Given the description of an element on the screen output the (x, y) to click on. 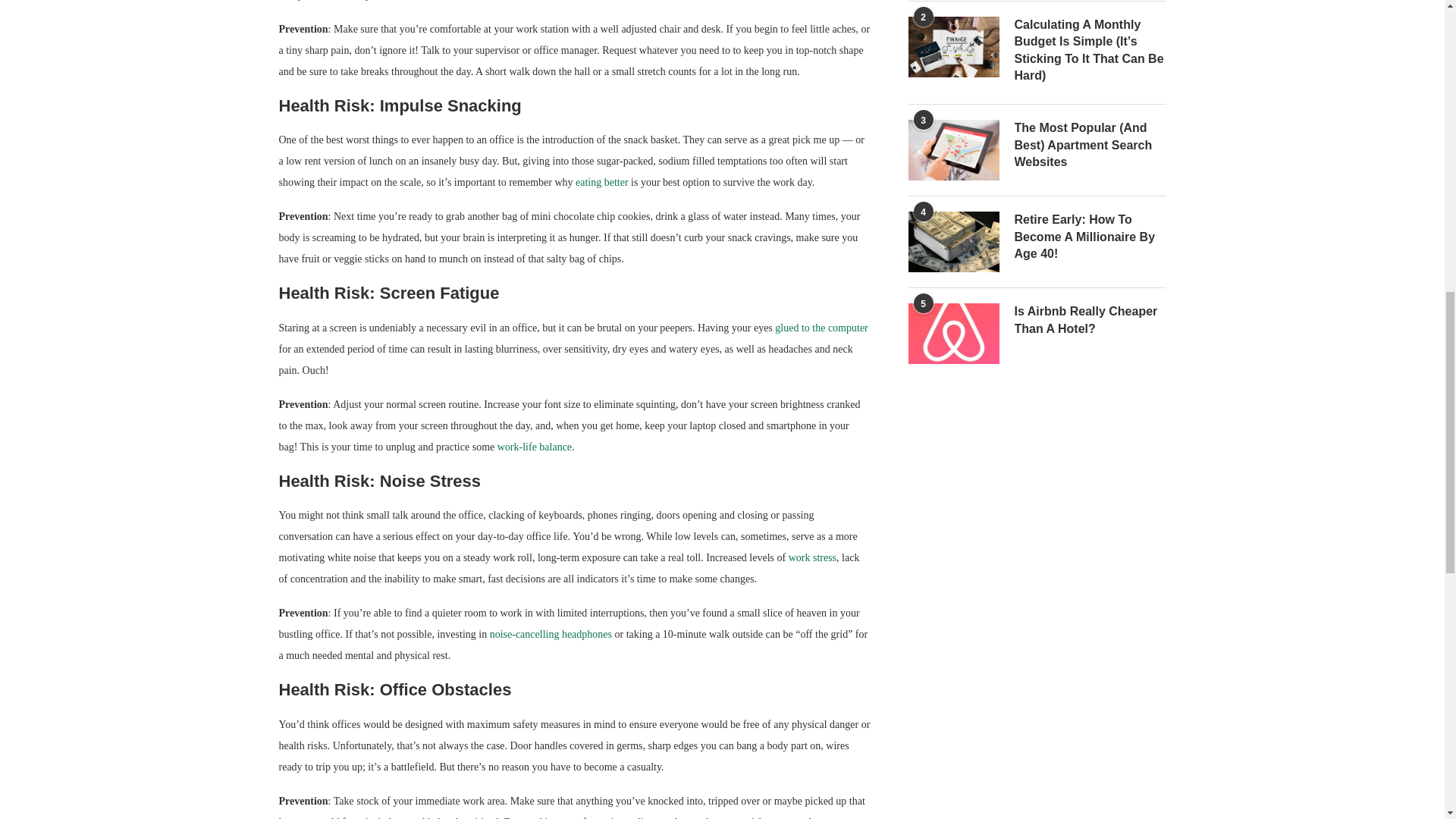
glued to the computer (820, 327)
work stress (812, 557)
eating better (601, 182)
noise-cancelling headphones (550, 633)
work-life balance (534, 446)
